Given the description of an element on the screen output the (x, y) to click on. 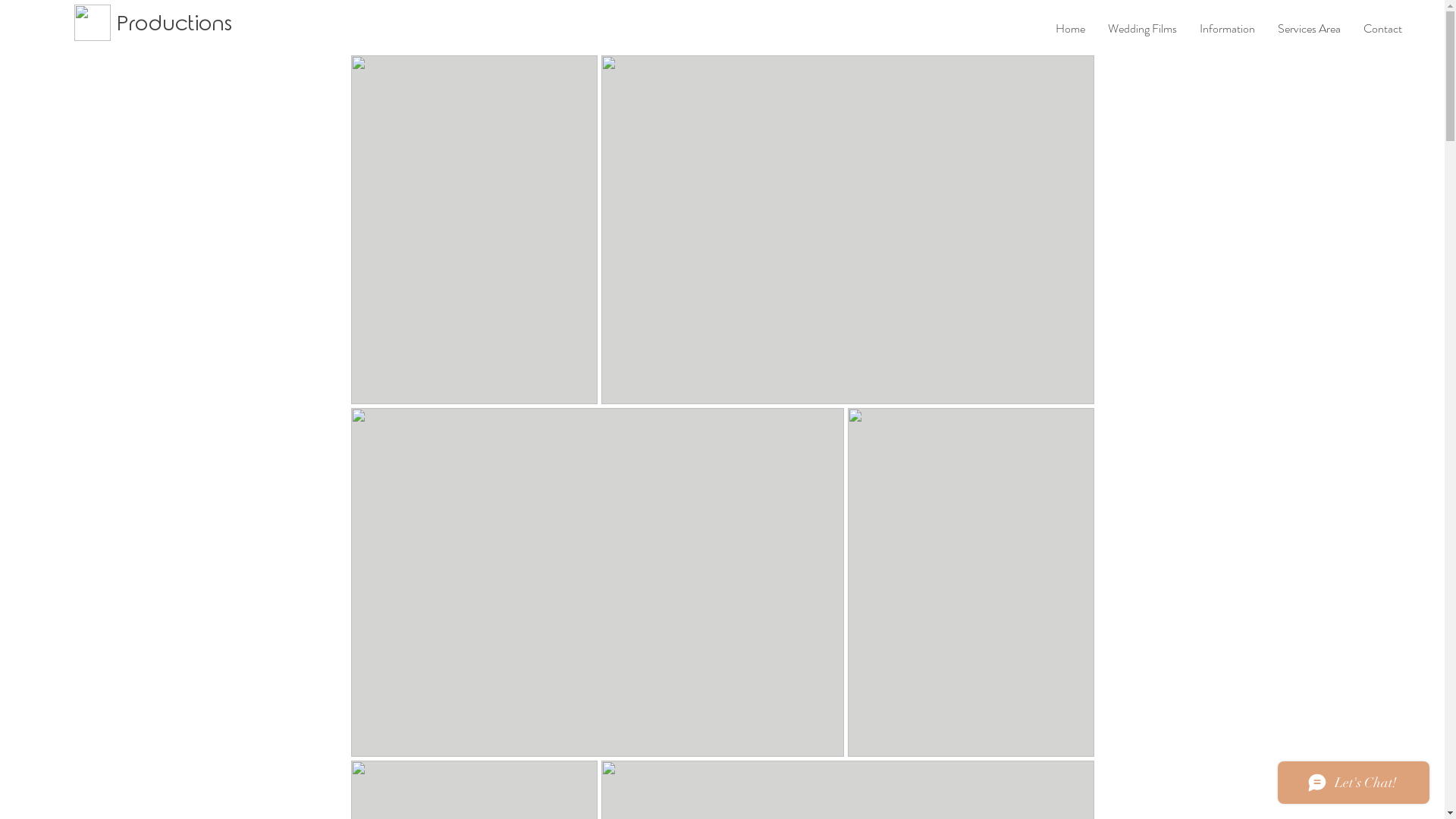
Productions Element type: text (174, 24)
Information Element type: text (1227, 28)
Wedding Films Element type: text (1142, 28)
Contact Element type: text (1382, 28)
Home Element type: text (1070, 28)
Services Area Element type: text (1309, 28)
